Given the description of an element on the screen output the (x, y) to click on. 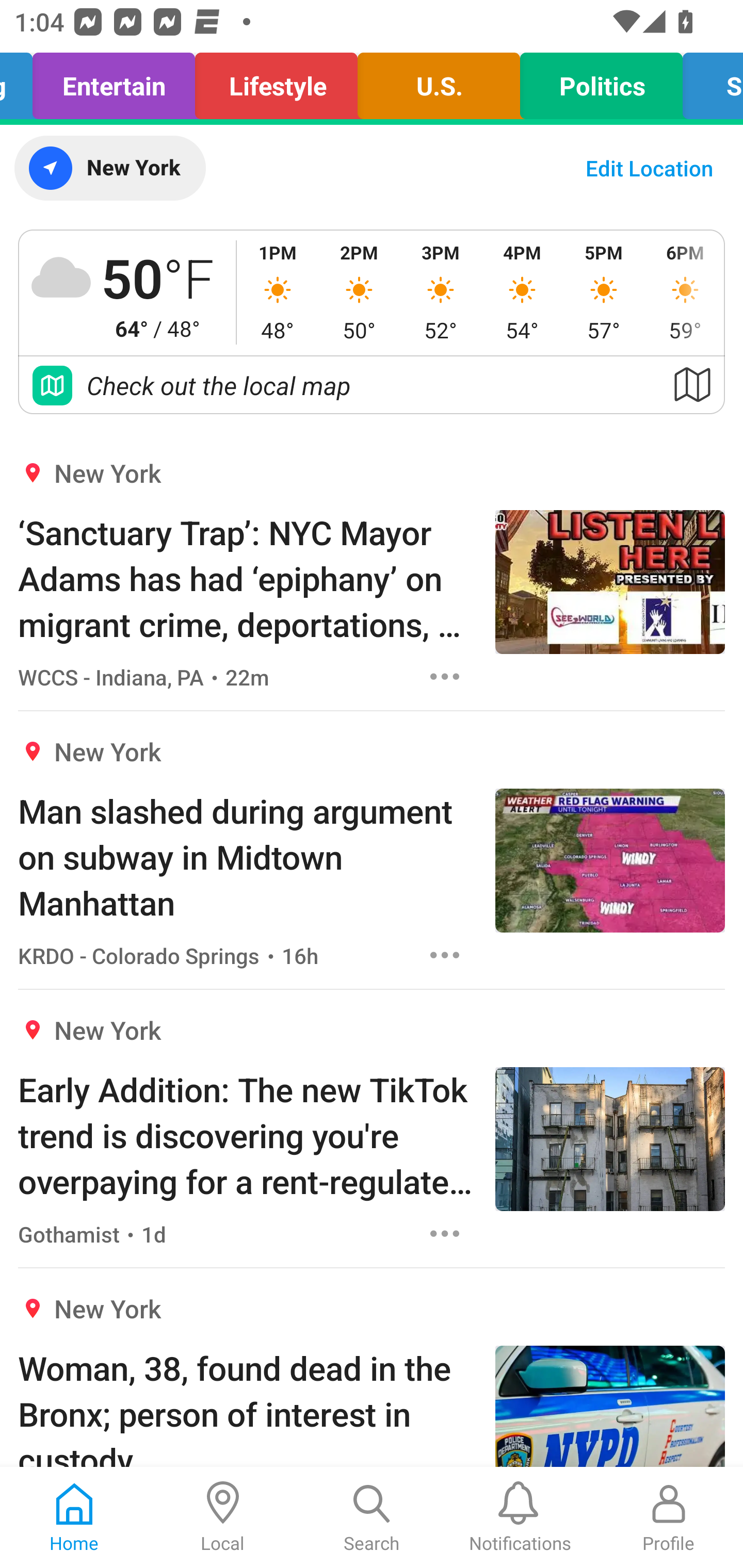
Entertain (113, 81)
Lifestyle (276, 81)
U.S. (438, 81)
Politics (600, 81)
New York (109, 168)
Edit Location (648, 168)
1PM 48° (277, 291)
2PM 50° (358, 291)
3PM 52° (440, 291)
4PM 54° (522, 291)
5PM 57° (603, 291)
6PM 59° (684, 291)
Check out the local map (371, 384)
Options (444, 676)
Options (444, 954)
Options (444, 1233)
Local (222, 1517)
Search (371, 1517)
Notifications (519, 1517)
Profile (668, 1517)
